Given the description of an element on the screen output the (x, y) to click on. 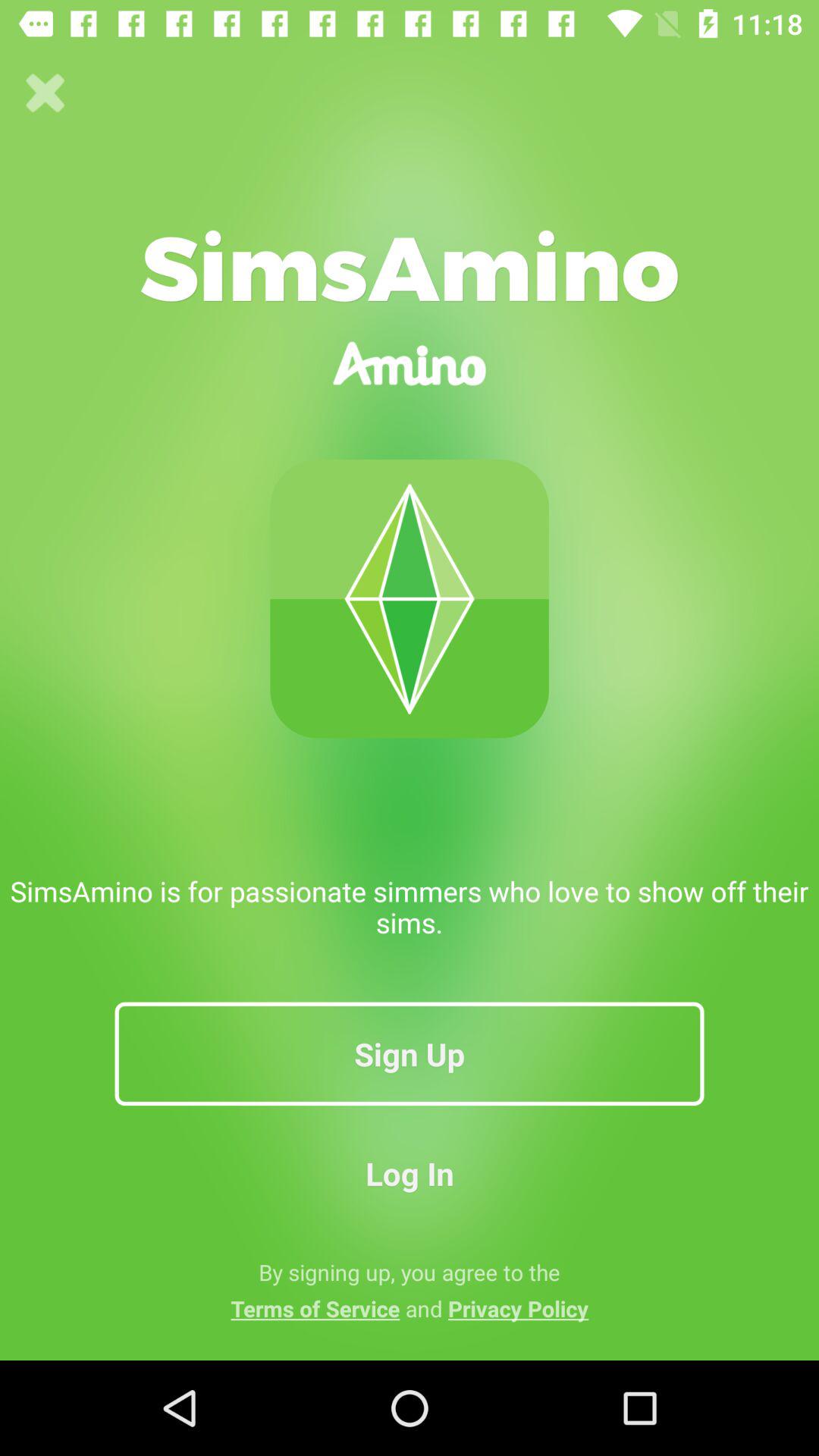
turn on log in (409, 1173)
